Given the description of an element on the screen output the (x, y) to click on. 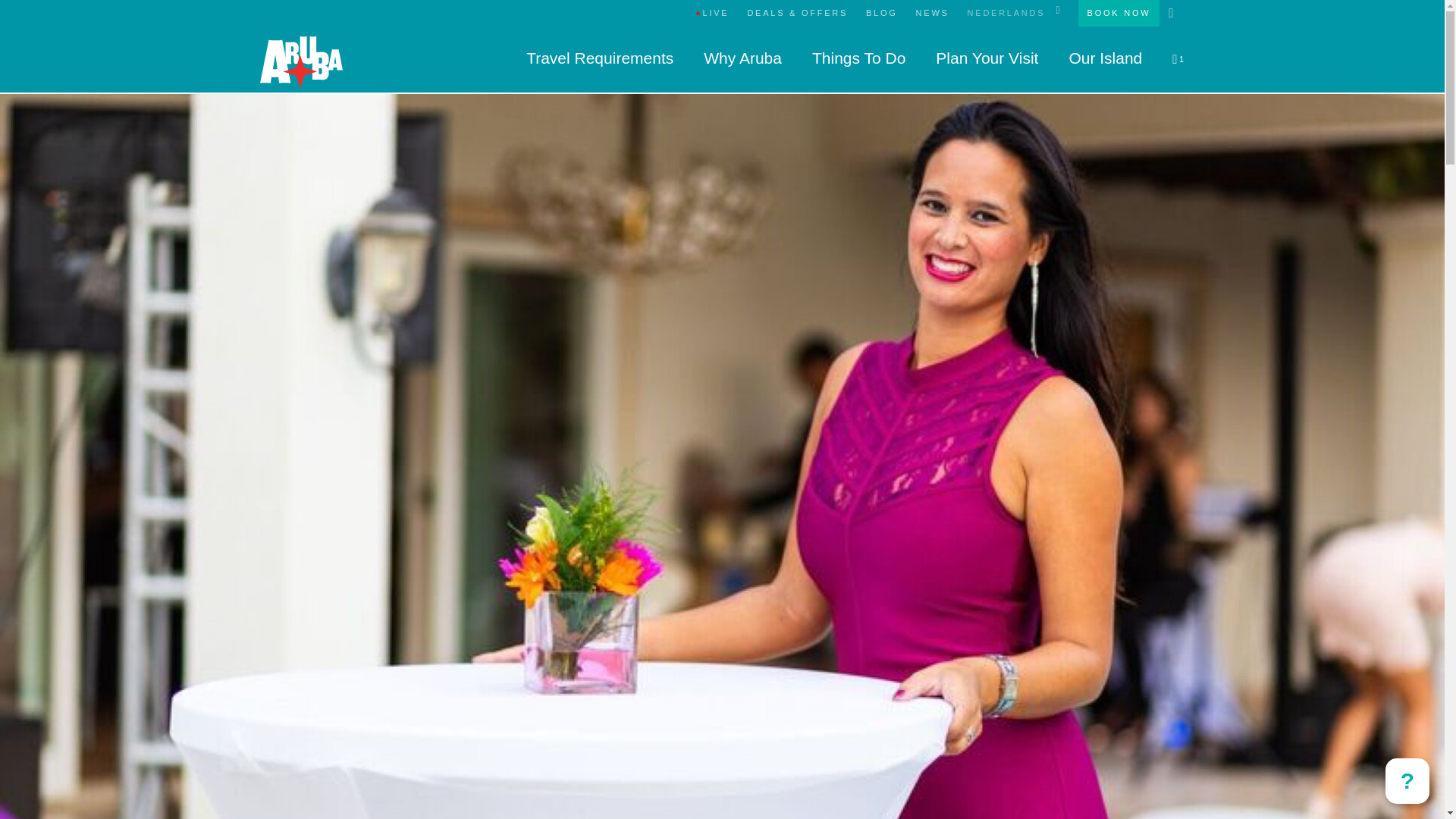
BOOK NOW (1119, 13)
Travel Requirements (598, 57)
NEWS (932, 13)
Why Aruba (742, 57)
BLOG (882, 13)
Things To Do (858, 57)
